Given the description of an element on the screen output the (x, y) to click on. 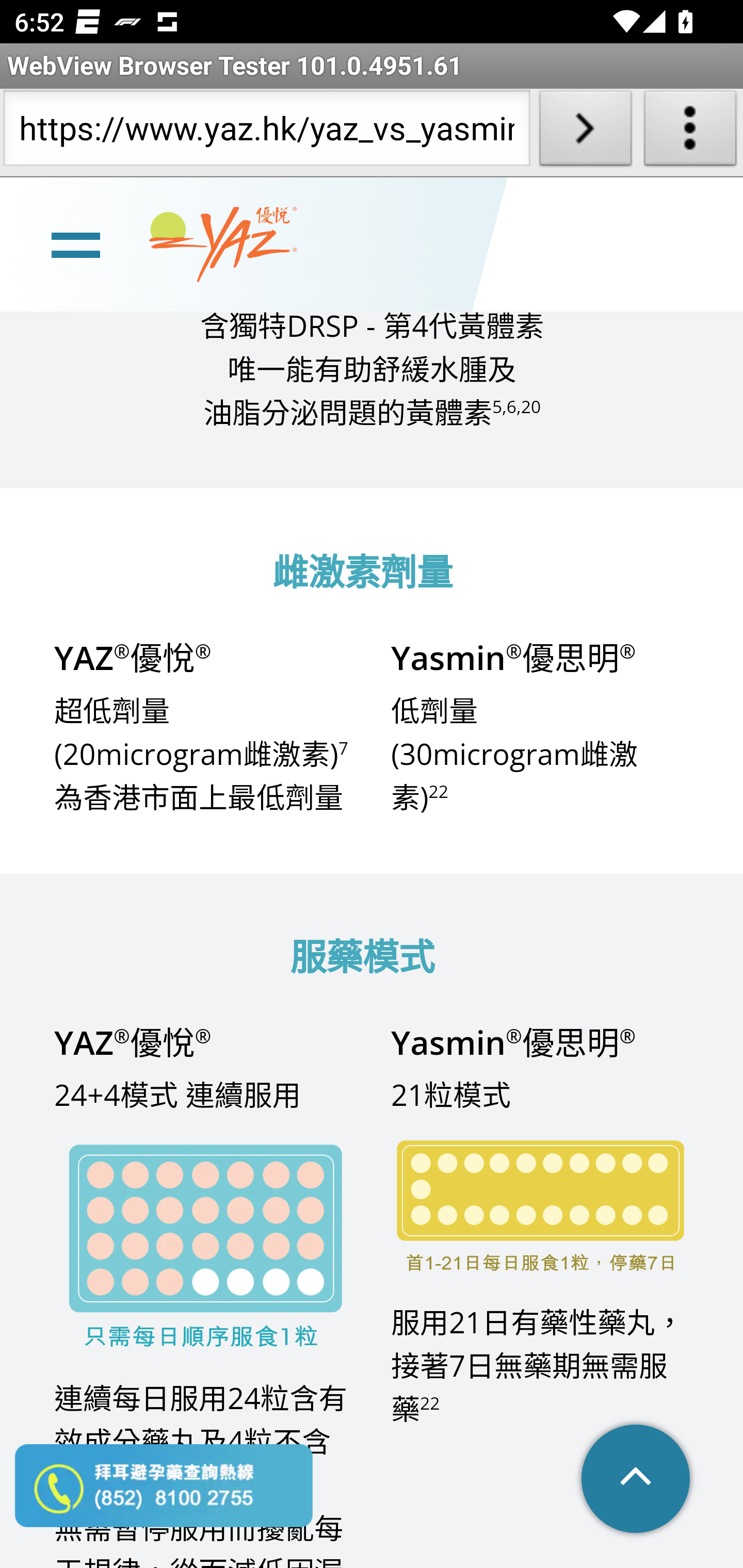
Load URL (585, 132)
About WebView (690, 132)
www.yaz (222, 244)
line Toggle burger menu (75, 242)
 (636, 1480)
